Given the description of an element on the screen output the (x, y) to click on. 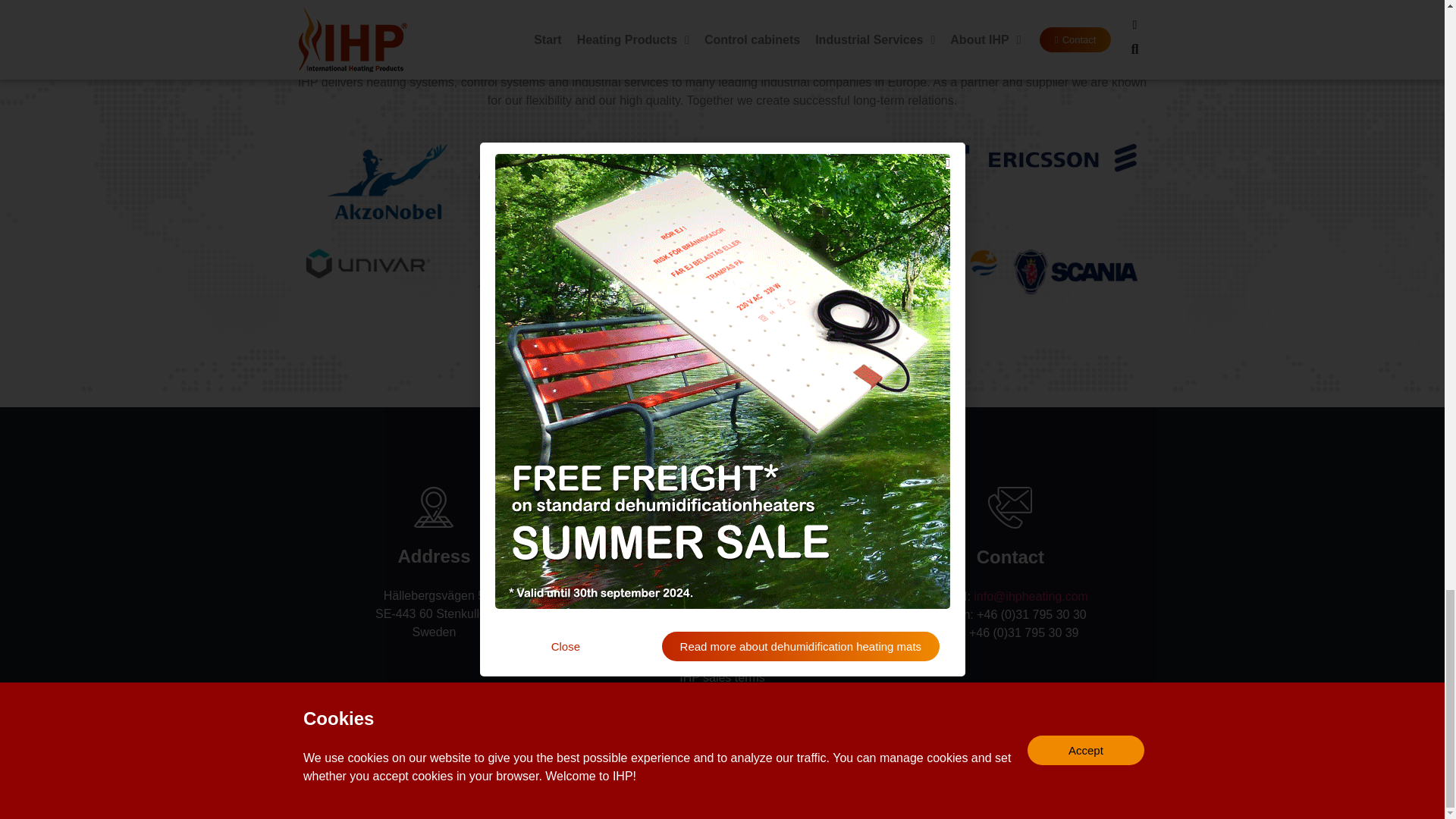
instagram (799, 782)
facebook (746, 782)
twitter (697, 782)
linkedin (645, 782)
